Given the description of an element on the screen output the (x, y) to click on. 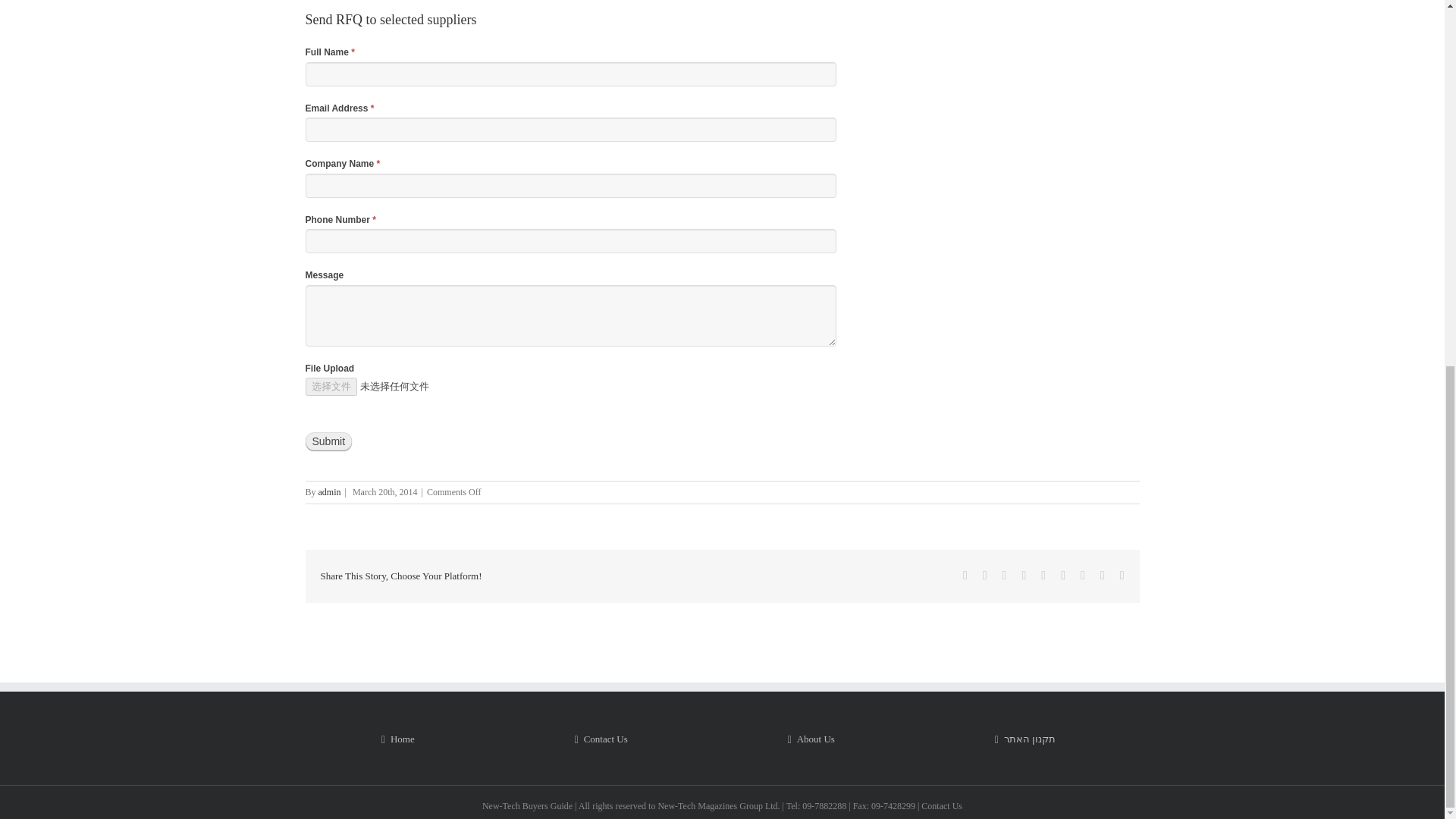
Submit (328, 441)
Posts by admin (329, 491)
admin (329, 491)
Submit (328, 441)
